Given the description of an element on the screen output the (x, y) to click on. 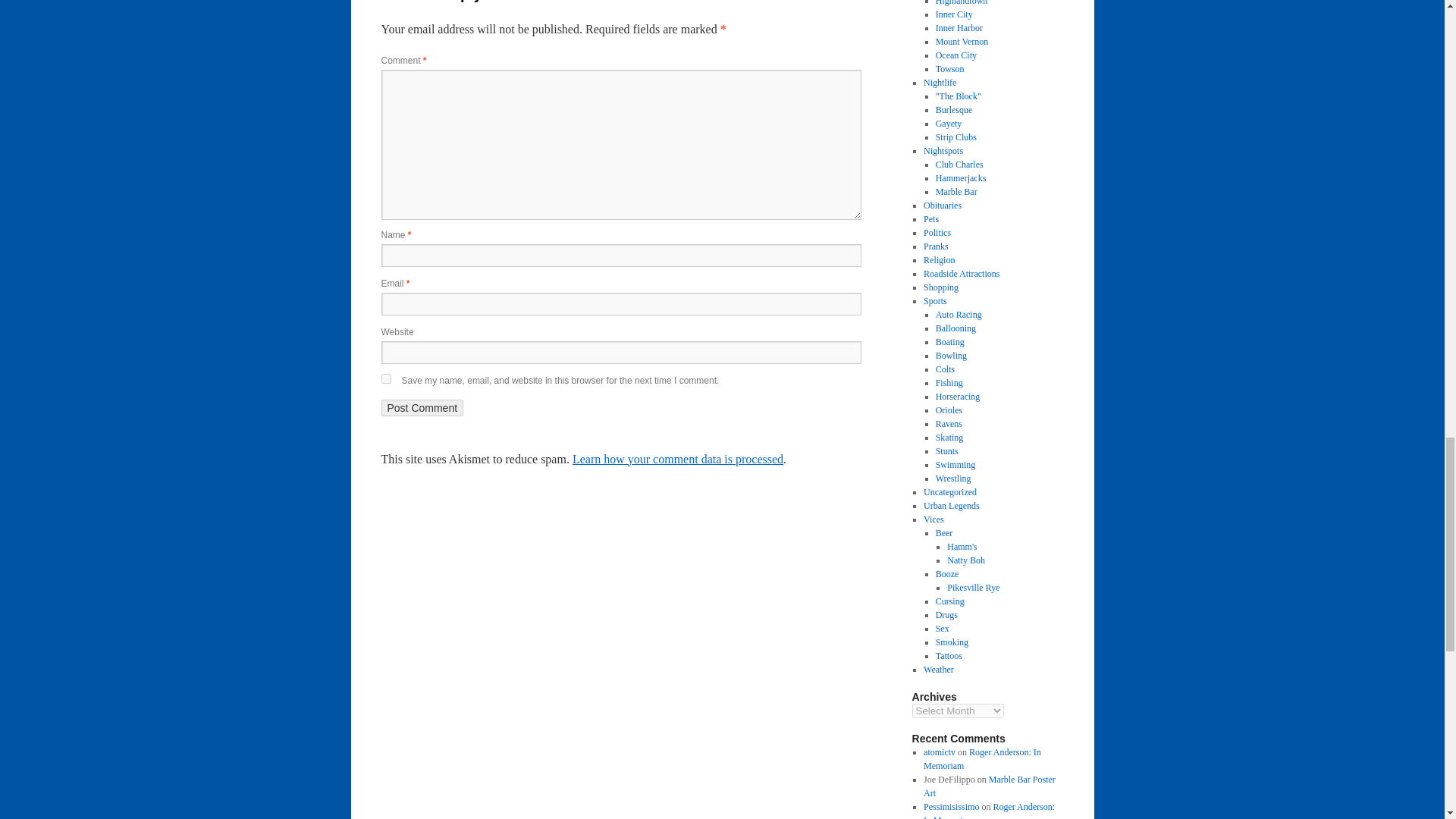
yes (385, 378)
Learn how your comment data is processed (677, 459)
Post Comment (421, 407)
Post Comment (421, 407)
